Given the description of an element on the screen output the (x, y) to click on. 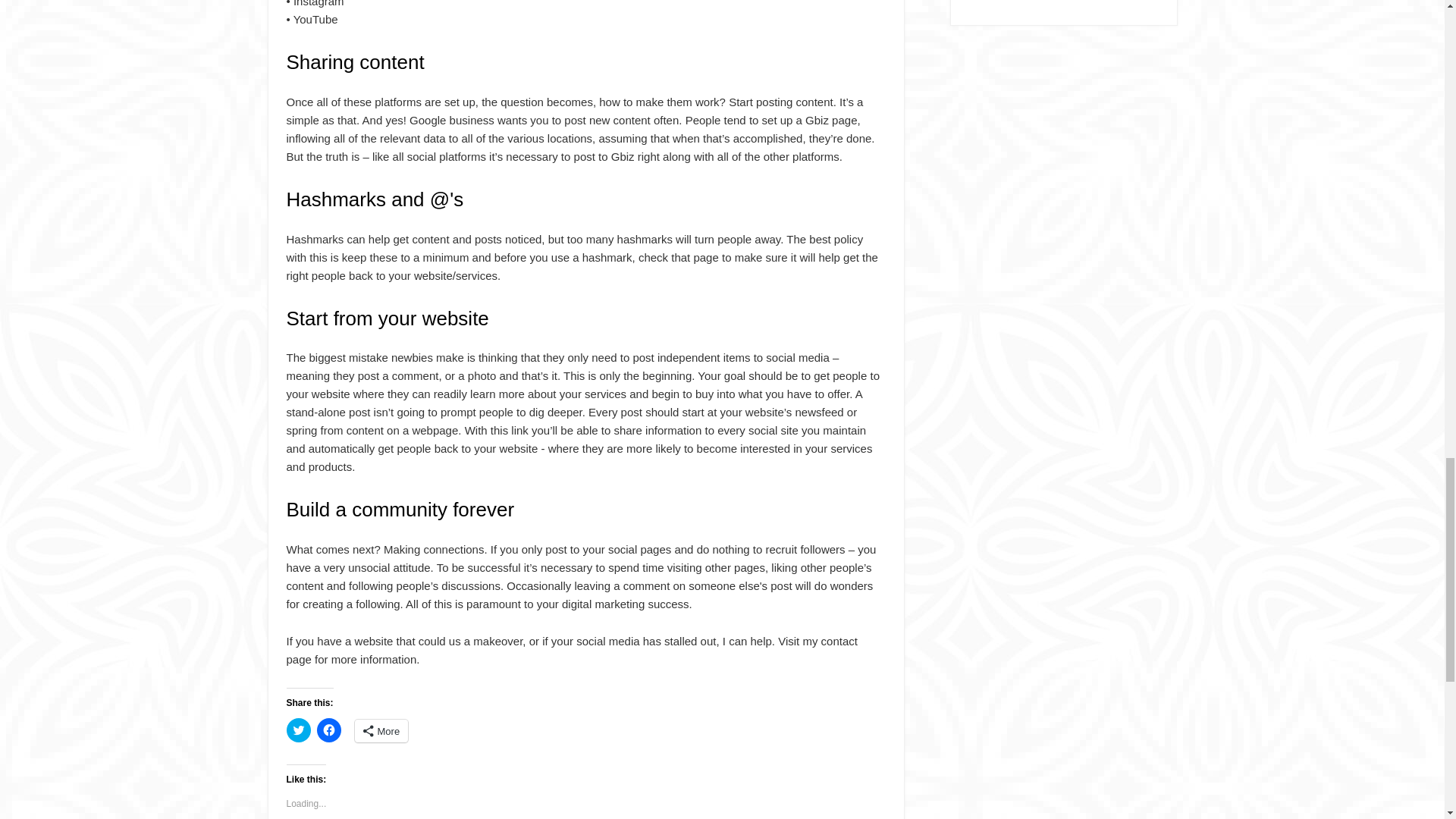
More (382, 730)
Click to share on Facebook (328, 730)
Click to share on Twitter (298, 730)
